Given the description of an element on the screen output the (x, y) to click on. 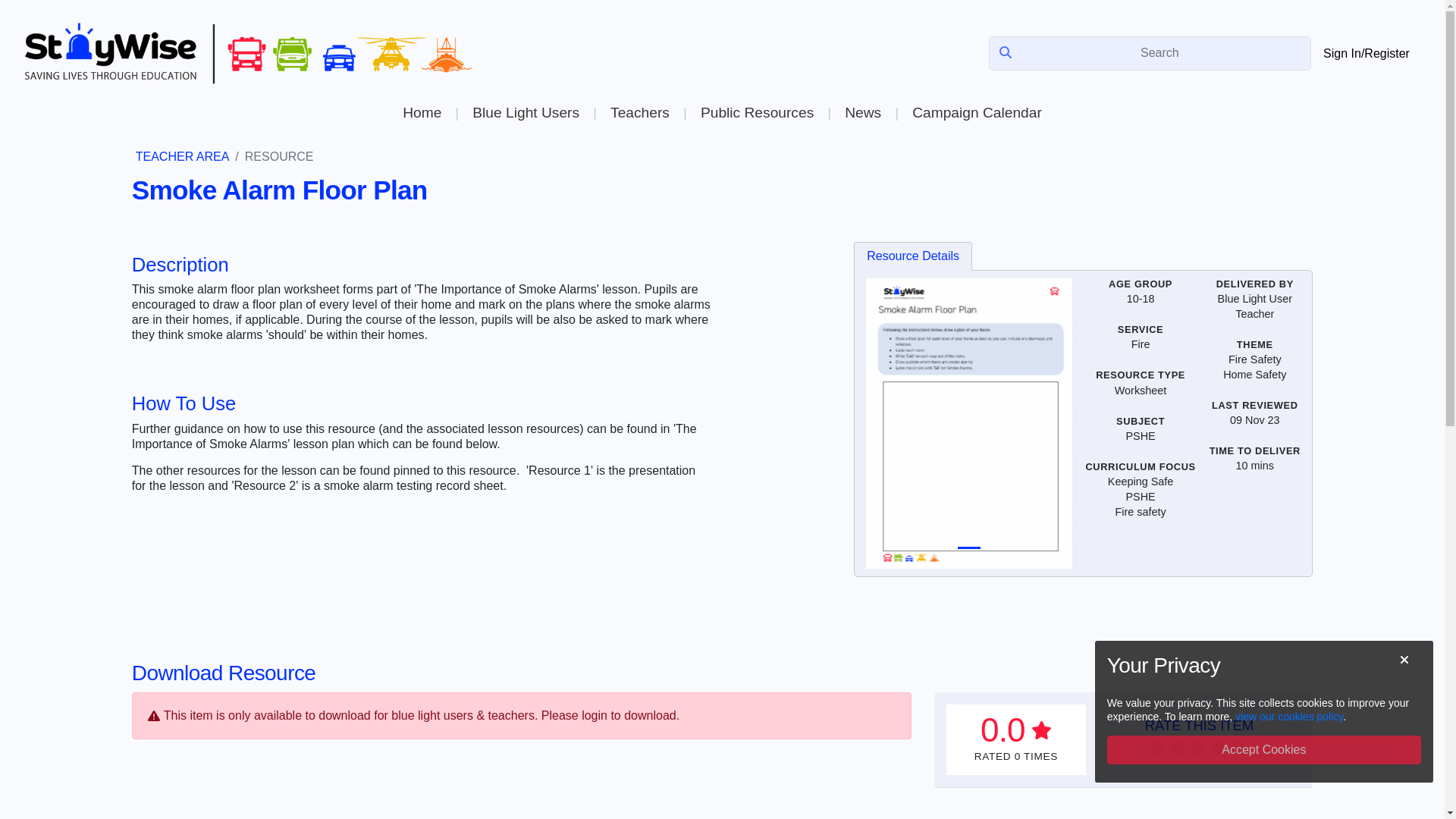
Home (421, 112)
TEACHER AREA (182, 155)
Campaign Calendar (976, 112)
Teachers (639, 112)
News (862, 112)
Blue Light Users (525, 112)
view our cookies policy (1288, 715)
Accept Cookies (1263, 749)
Public Resources (756, 112)
Resource Details (912, 256)
